Given the description of an element on the screen output the (x, y) to click on. 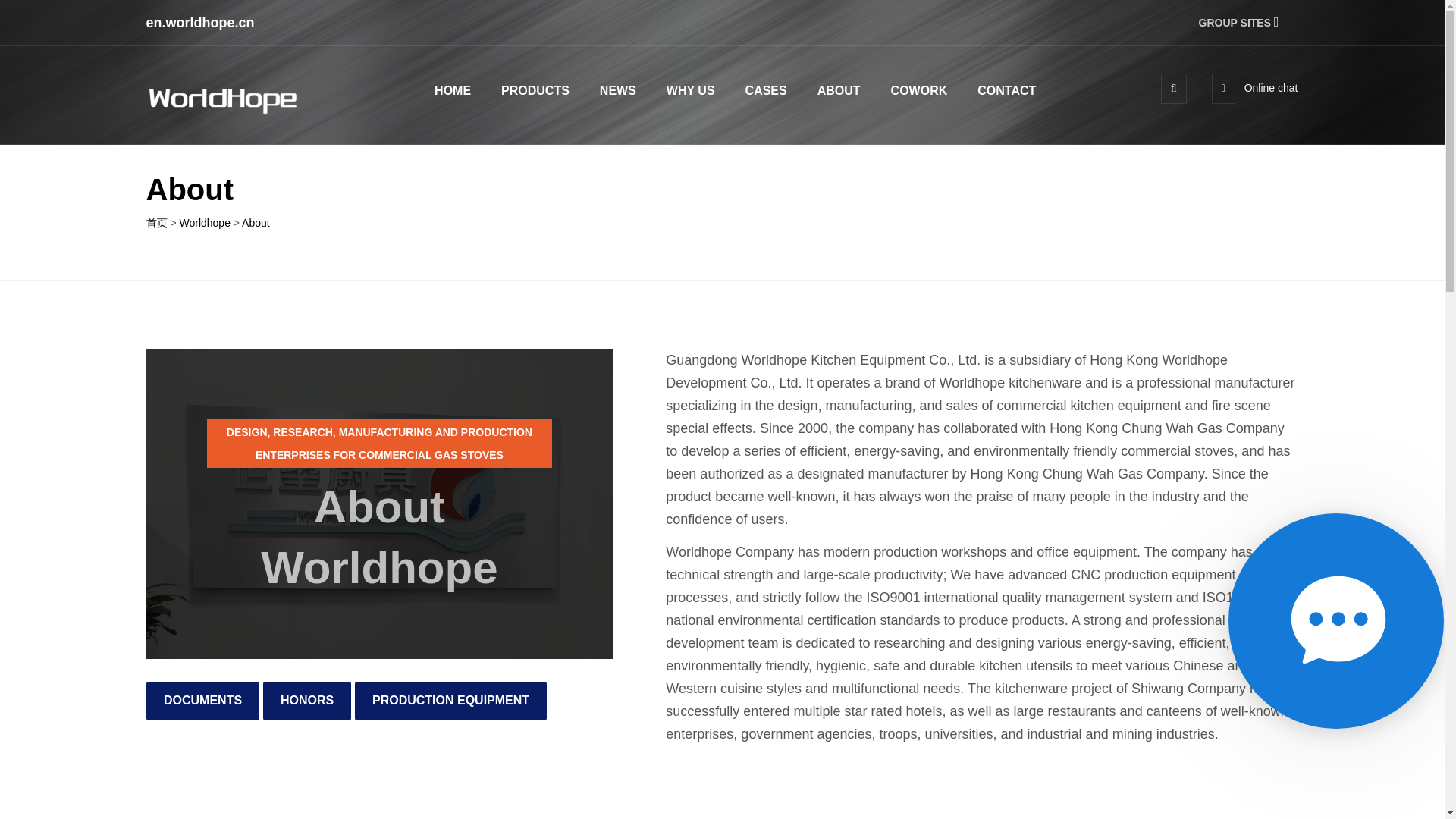
ABOUT (838, 90)
HOME (451, 90)
NEWS (617, 90)
CONTACT (1005, 90)
GROUP SITES (1248, 22)
Online chat (1254, 87)
WHY US (690, 90)
COWORK (919, 90)
en.worldhope.cn (199, 22)
PRODUCTS (534, 90)
